Given the description of an element on the screen output the (x, y) to click on. 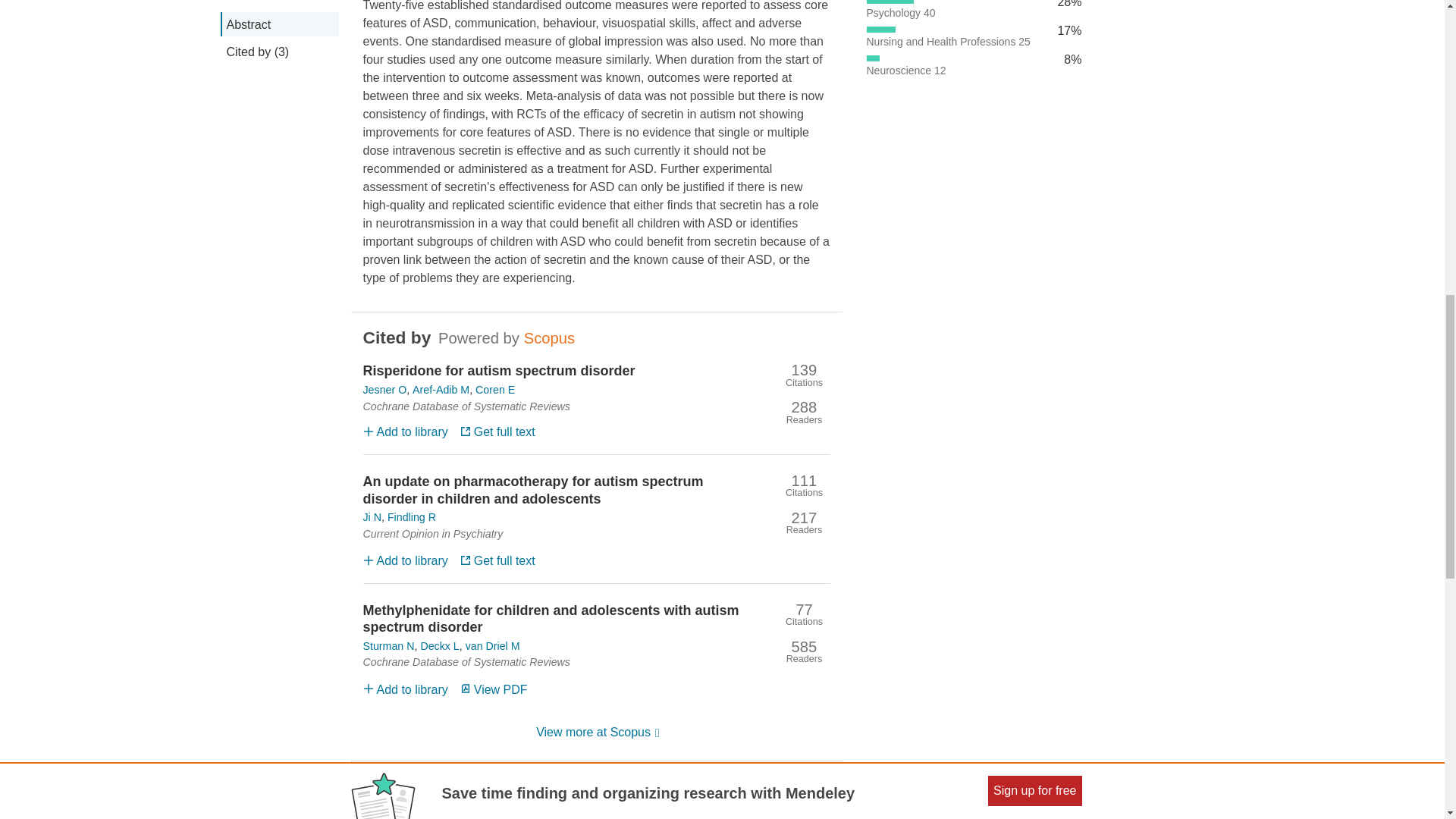
Add to library (404, 560)
View more at Scopus (596, 734)
Add to library (404, 688)
Coren E (495, 389)
Jesner O (384, 389)
Aref-Adib M (440, 389)
Findling R (411, 516)
Get full text (497, 560)
View PDF (493, 688)
